Given the description of an element on the screen output the (x, y) to click on. 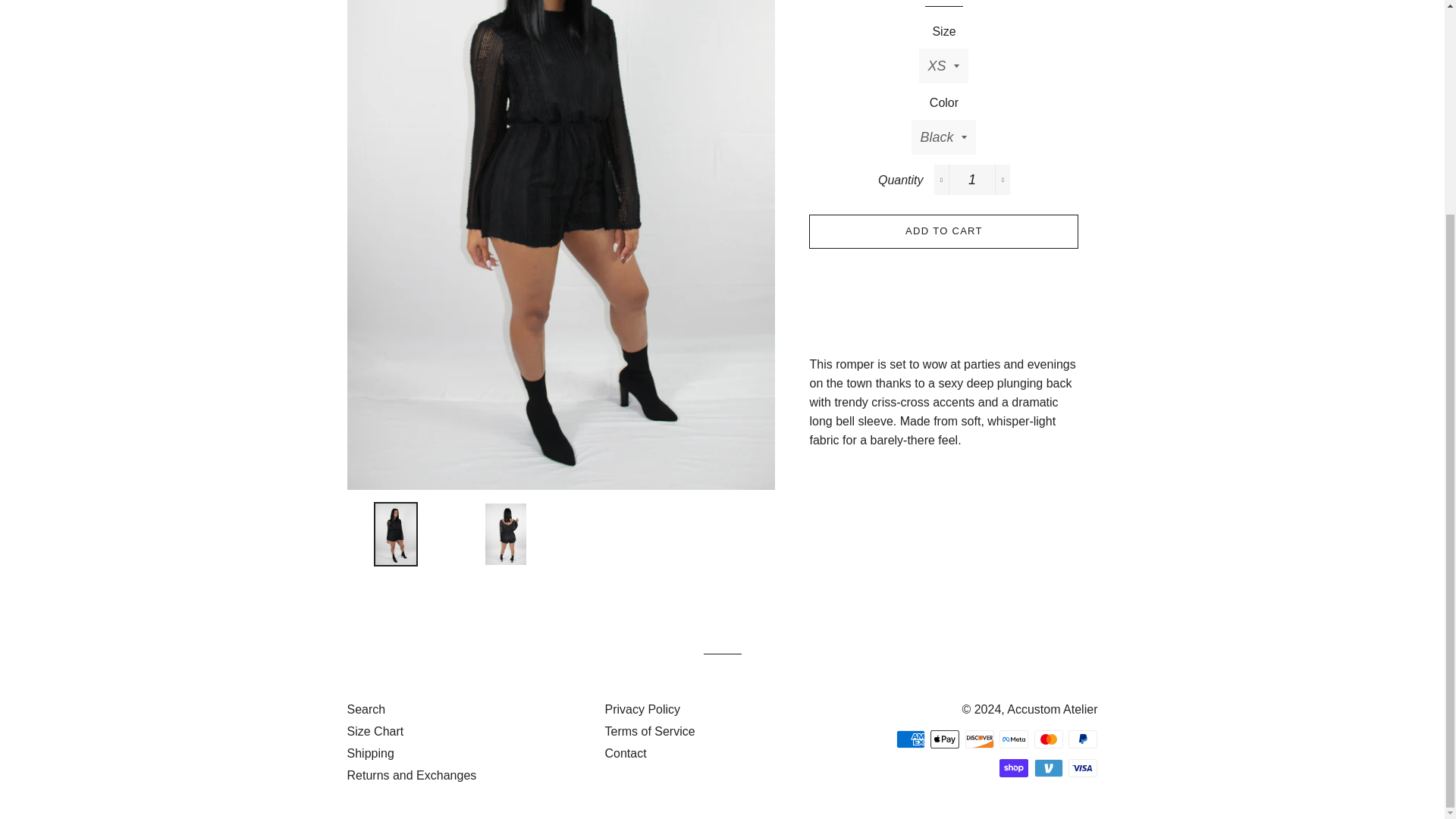
Contact (625, 753)
Returns and Exchanges (412, 775)
Venmo (1047, 768)
Apple Pay (944, 739)
Meta Pay (1012, 739)
American Express (910, 739)
Mastercard (1047, 739)
Size Chart (375, 730)
Privacy Policy (641, 708)
Shop Pay (1012, 768)
